Given the description of an element on the screen output the (x, y) to click on. 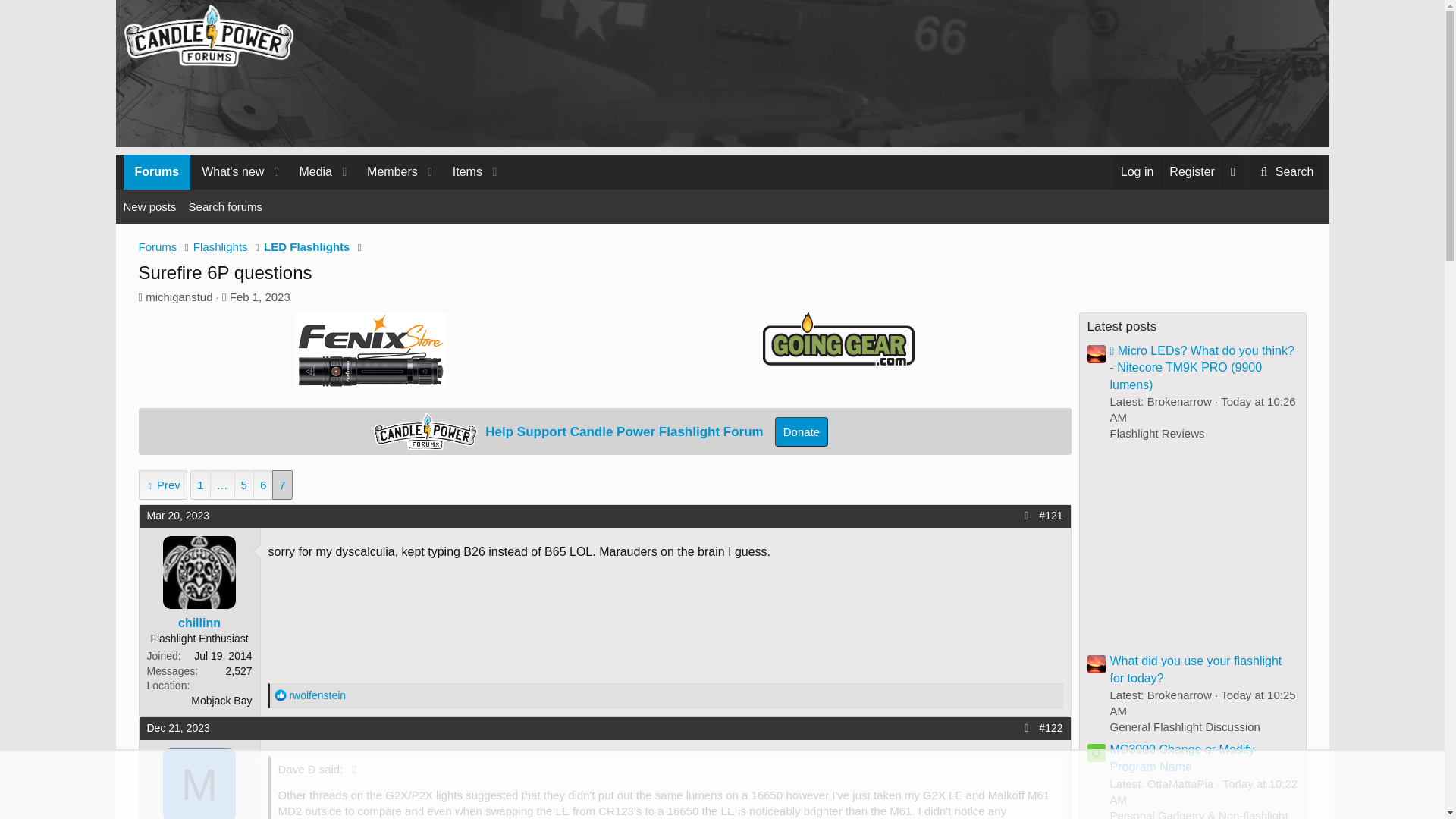
Search (1285, 171)
PayPal - The safer, easier way to pay online! (314, 188)
3rd party ad content (801, 431)
Media (1285, 171)
Items (309, 171)
What's new (462, 171)
Donate (227, 171)
Members (801, 431)
Forums (387, 171)
Like (156, 171)
Dec 21, 2023 at 11:20 AM (280, 695)
Feb 1, 2023 at 9:22 AM (178, 727)
